Given the description of an element on the screen output the (x, y) to click on. 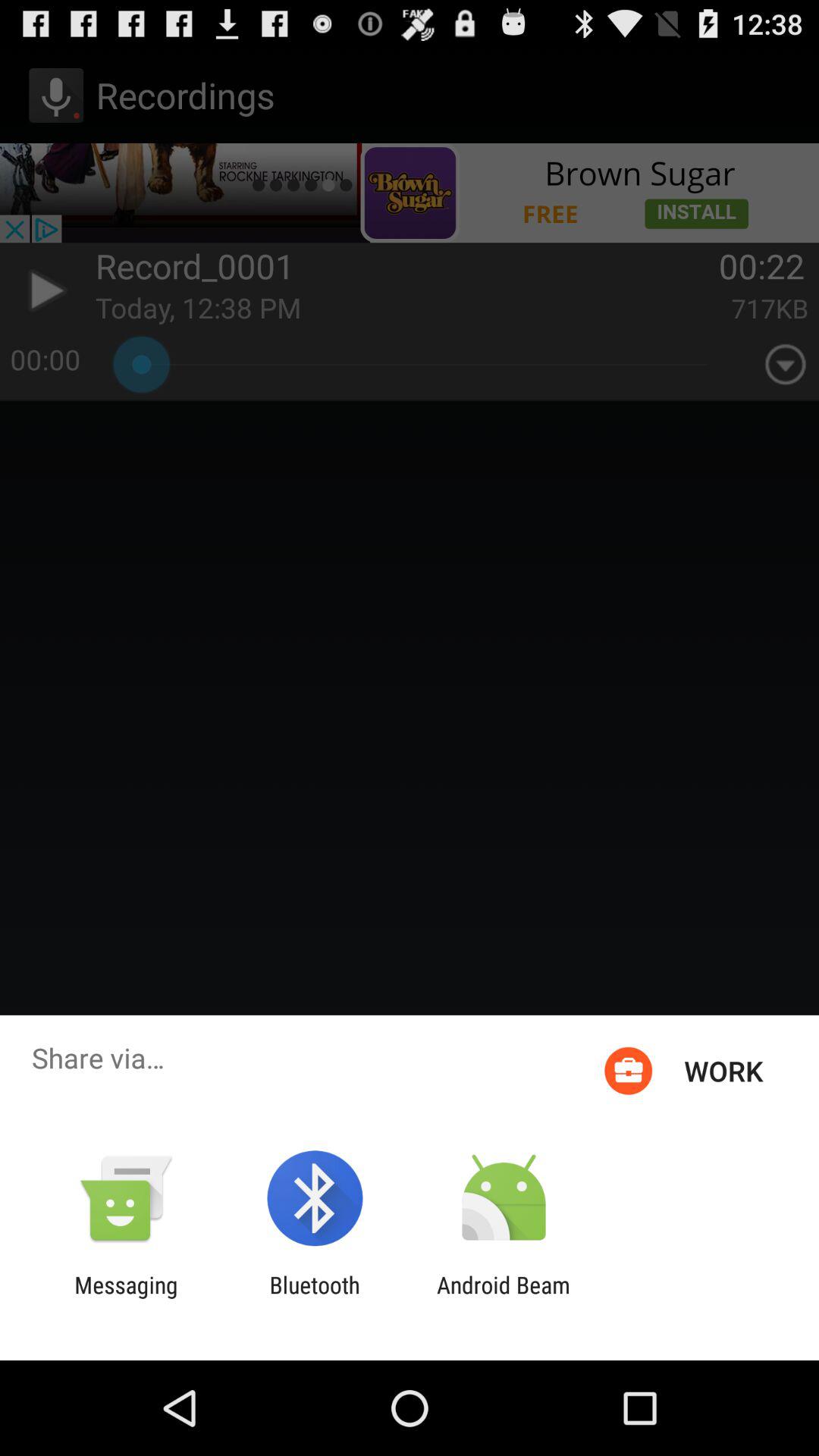
open the icon next to the bluetooth app (503, 1298)
